Given the description of an element on the screen output the (x, y) to click on. 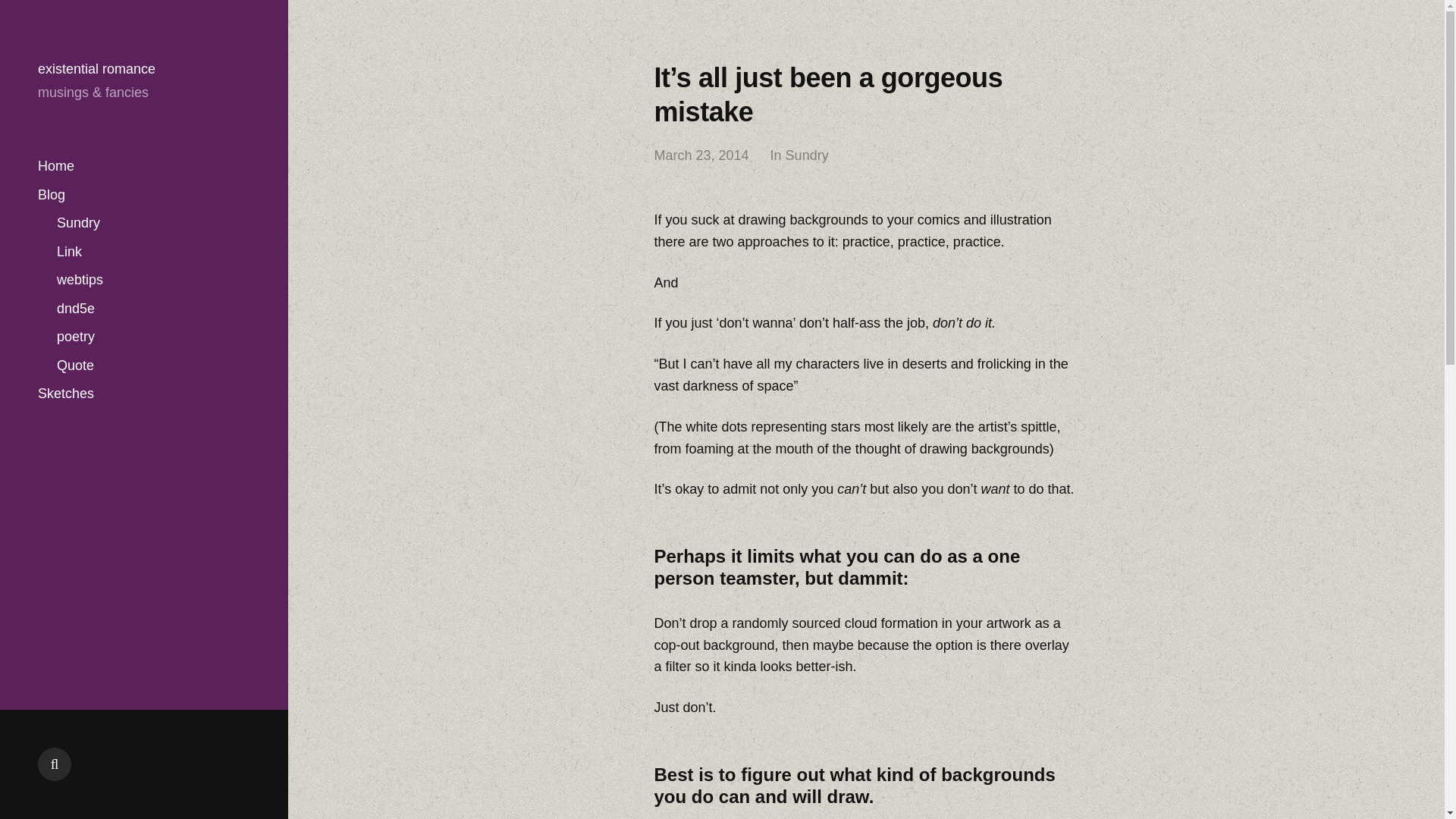
Blog (51, 194)
March 23, 2014 (700, 155)
existential romance (96, 68)
Sundry (78, 222)
webtips (79, 279)
Quote (75, 365)
Link (68, 252)
poetry (75, 336)
Sketches (65, 393)
dnd5e (75, 308)
